Given the description of an element on the screen output the (x, y) to click on. 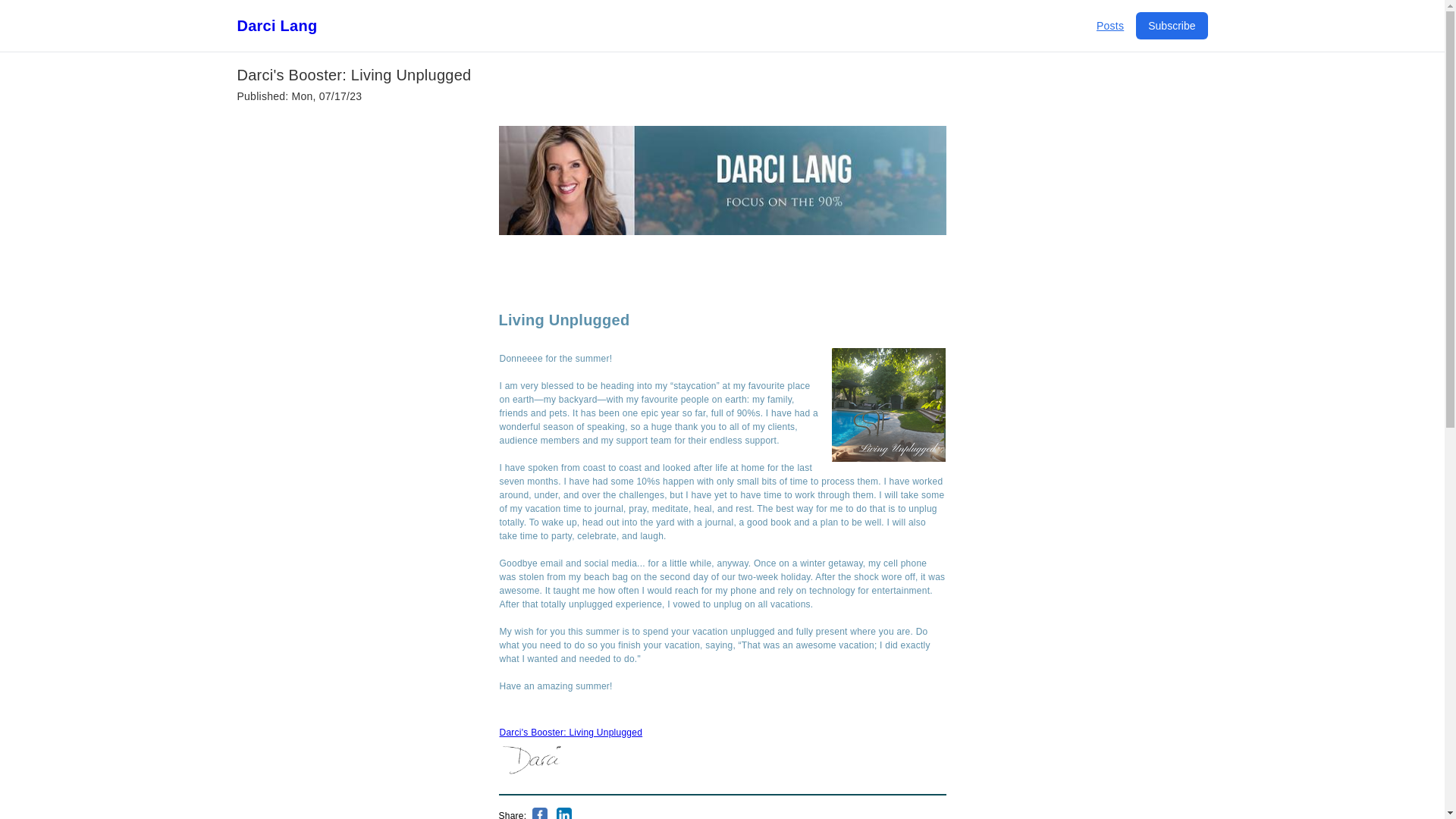
Darci Lang (276, 25)
Subscribe (1171, 25)
Living Unplugged (564, 320)
Posts (1110, 25)
Darci's Booster: Living Unplugged (570, 732)
Darci Lang (276, 25)
